Given the description of an element on the screen output the (x, y) to click on. 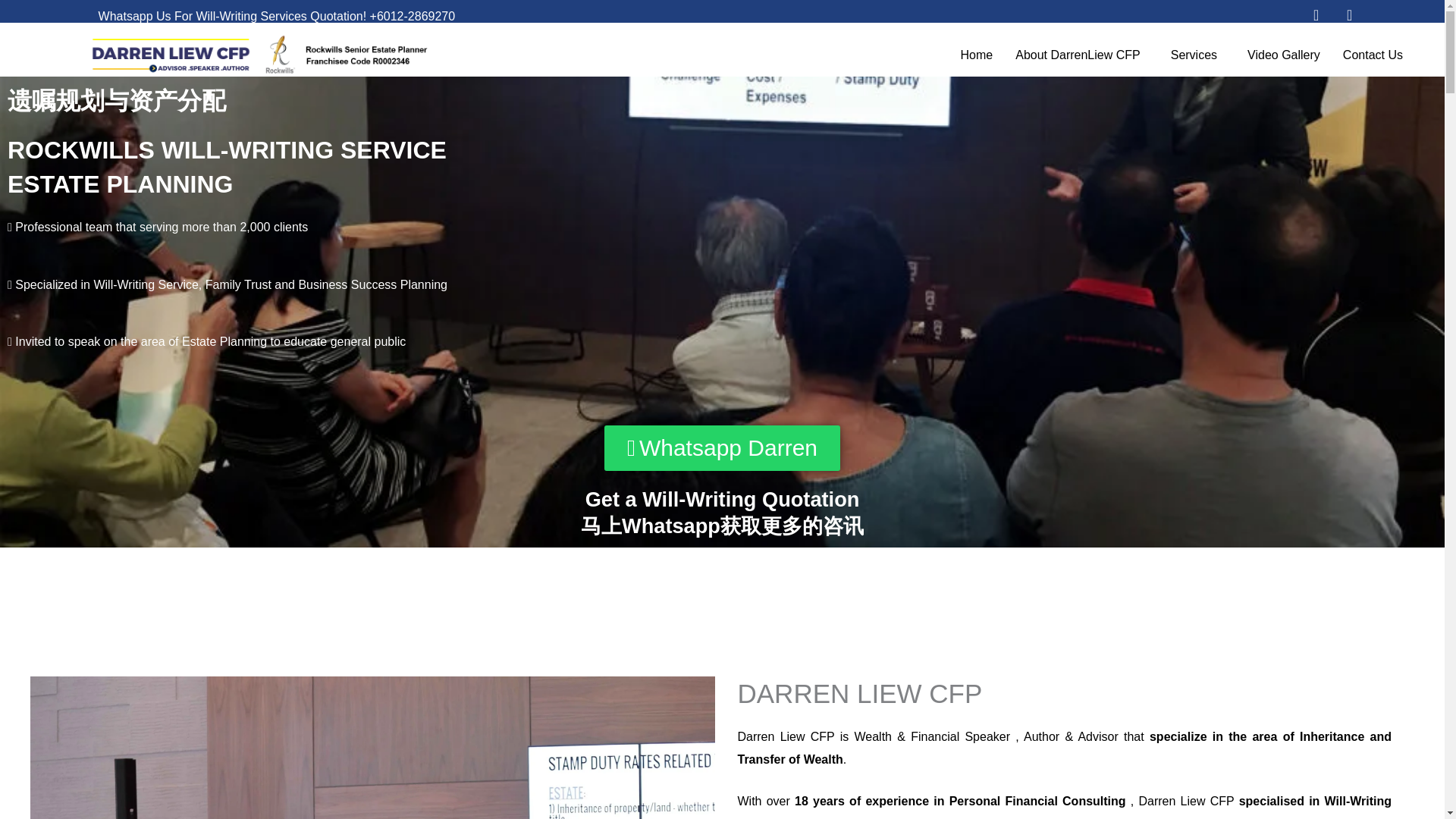
Home (976, 54)
Contact Us (1377, 54)
Whatsapp (1316, 15)
About DarrenLiew CFP (1081, 54)
Video Gallery (1284, 54)
Facebook (1350, 15)
Services (1197, 54)
Whatsapp Darren (722, 447)
